Given the description of an element on the screen output the (x, y) to click on. 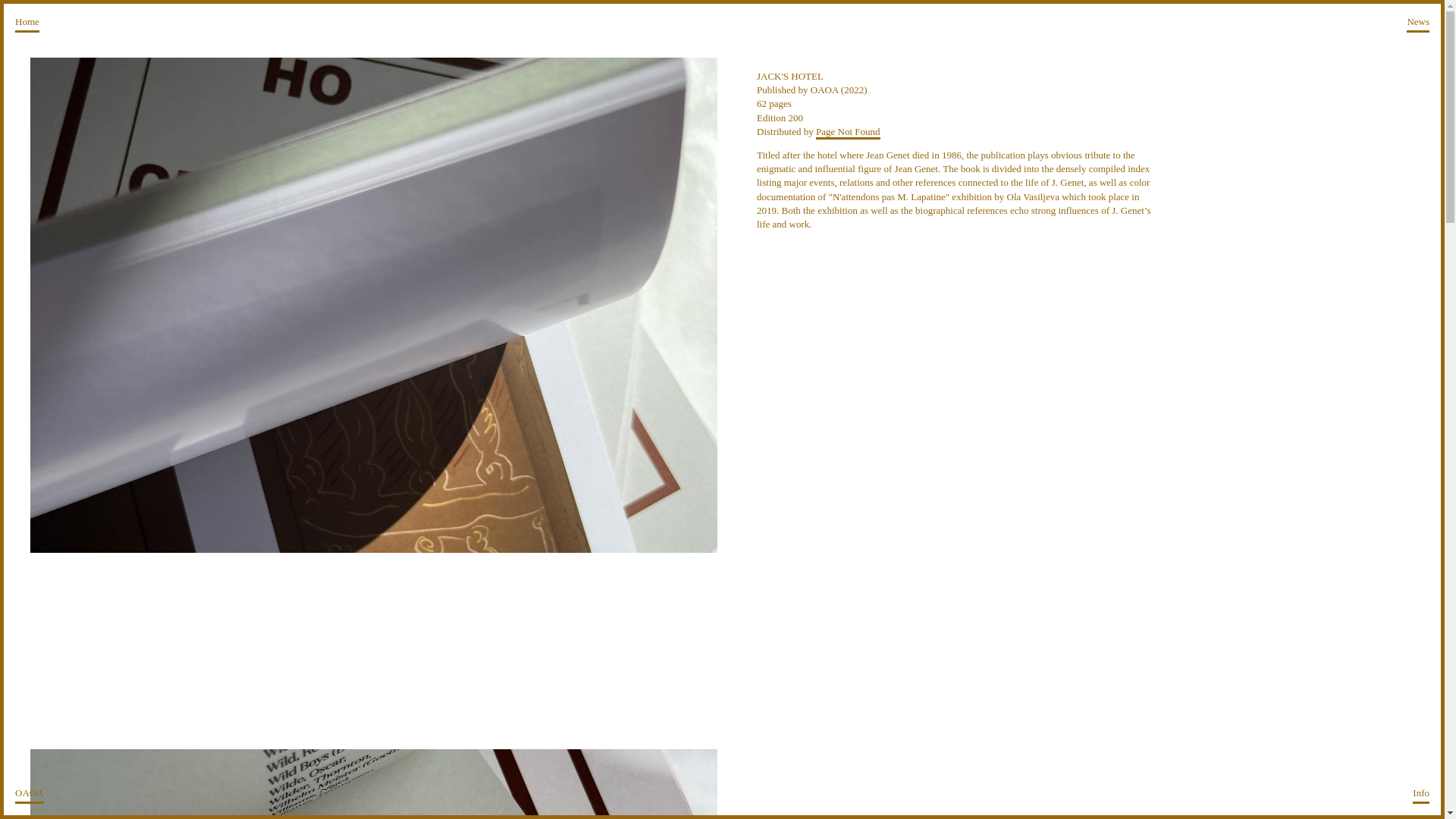
Page Not Found (847, 132)
Home (26, 23)
OAOA (28, 794)
